Given the description of an element on the screen output the (x, y) to click on. 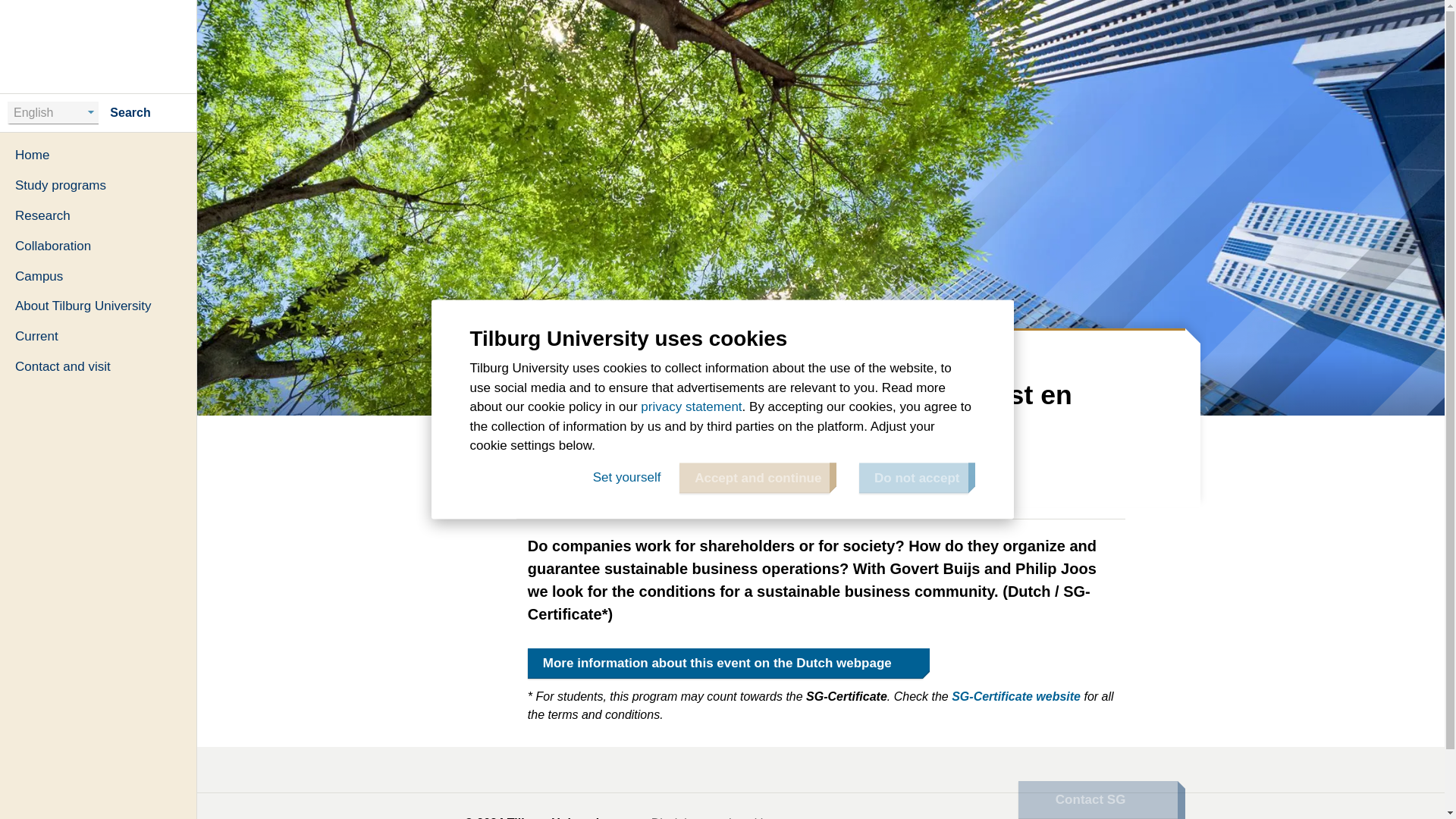
Instagram (1161, 813)
Research (98, 215)
More information about this event on the Dutch webpage (725, 663)
Studium Generale Certificate (1016, 696)
Home (98, 155)
LinkedIn (991, 813)
YouTube (1025, 813)
Flickr (1127, 813)
Home (98, 46)
SG-Certificate website (1016, 696)
Twitter (1093, 813)
Disclaimer and cookies (716, 817)
About Tilburg University (98, 306)
Go to the homepage of (98, 46)
Home (487, 350)
